Given the description of an element on the screen output the (x, y) to click on. 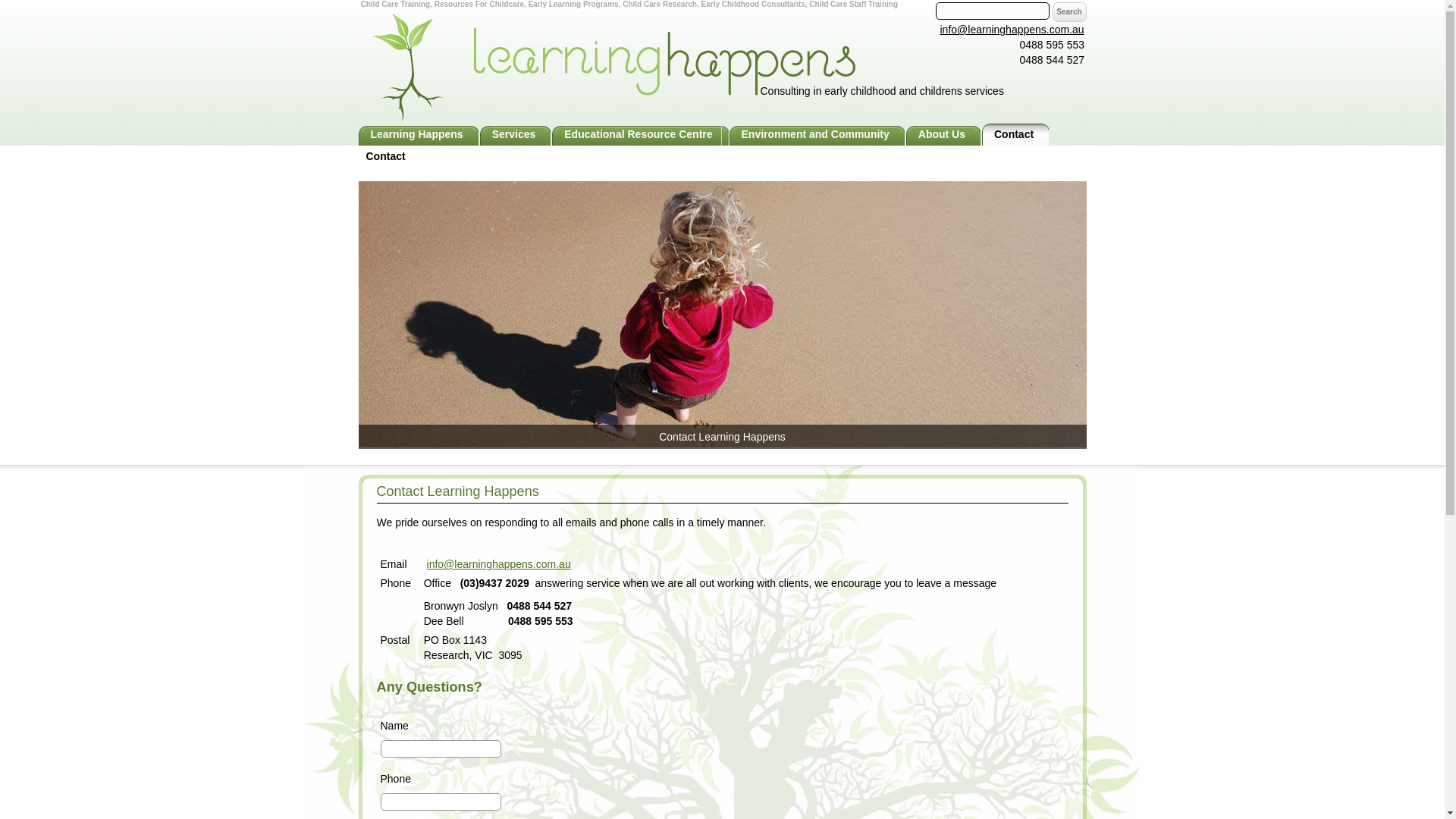
info@learninghappens.com.au Element type: text (498, 564)
About Us Element type: text (943, 134)
Search Element type: text (1069, 11)
Educational Resource Centre Element type: text (640, 134)
Contact Element type: text (1015, 134)
Environment and Community Element type: text (817, 134)
info@learninghappens.com.au Element type: text (1012, 29)
Services Element type: text (516, 134)
Learning Happens Element type: text (417, 134)
Learning Happens Element type: text (327, 1)
Contact Element type: text (384, 155)
